Given the description of an element on the screen output the (x, y) to click on. 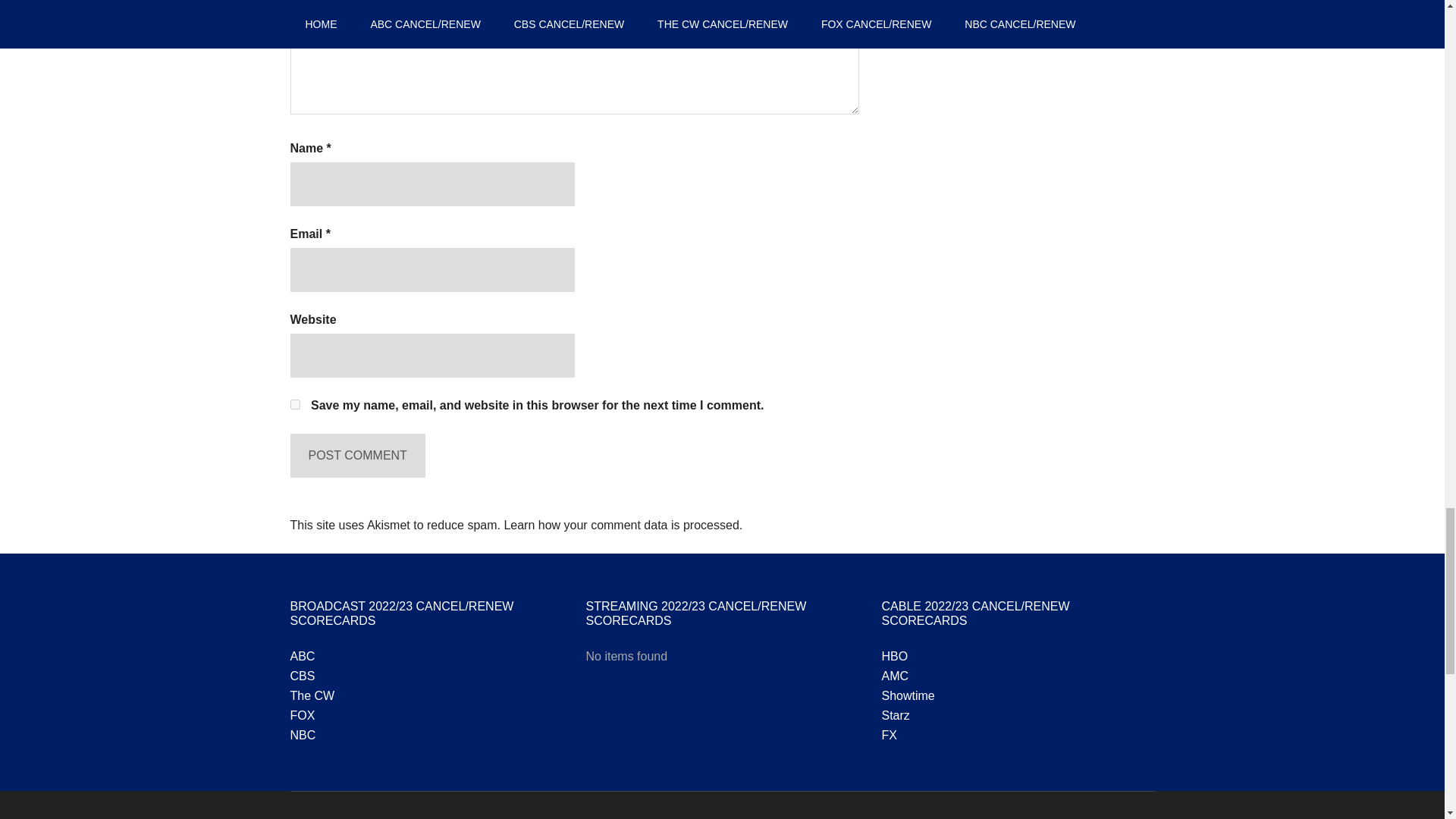
NBC (302, 735)
yes (294, 404)
Learn how your comment data is processed (620, 524)
FOX (301, 715)
The CW (311, 695)
CBS (301, 675)
HBO (893, 656)
ABC (301, 656)
Post Comment (357, 455)
Post Comment (357, 455)
AMC (894, 675)
Starz (894, 715)
Showtime (907, 695)
FX (888, 735)
